Given the description of an element on the screen output the (x, y) to click on. 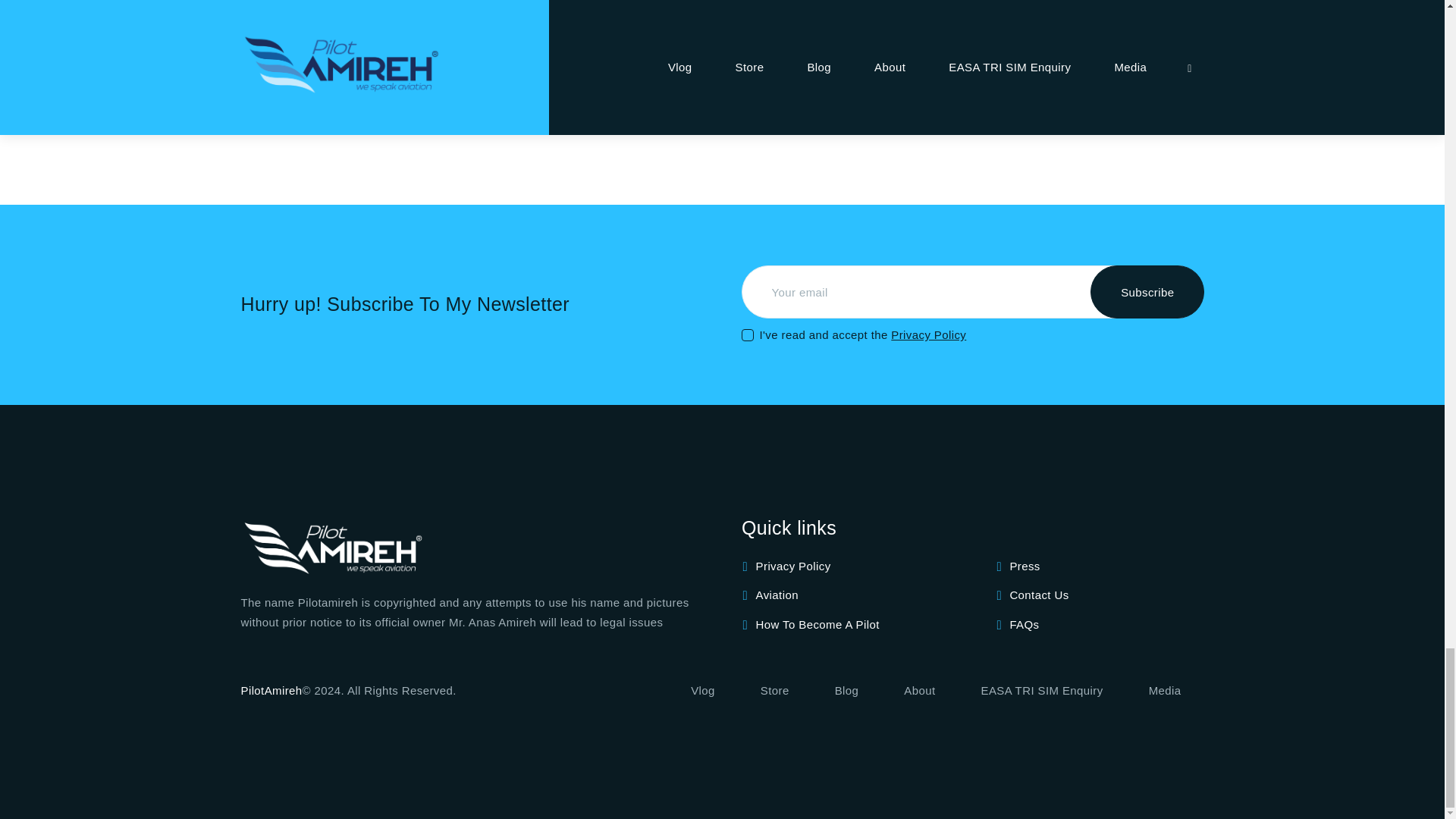
Subscribe (1147, 291)
1 (746, 323)
